Given the description of an element on the screen output the (x, y) to click on. 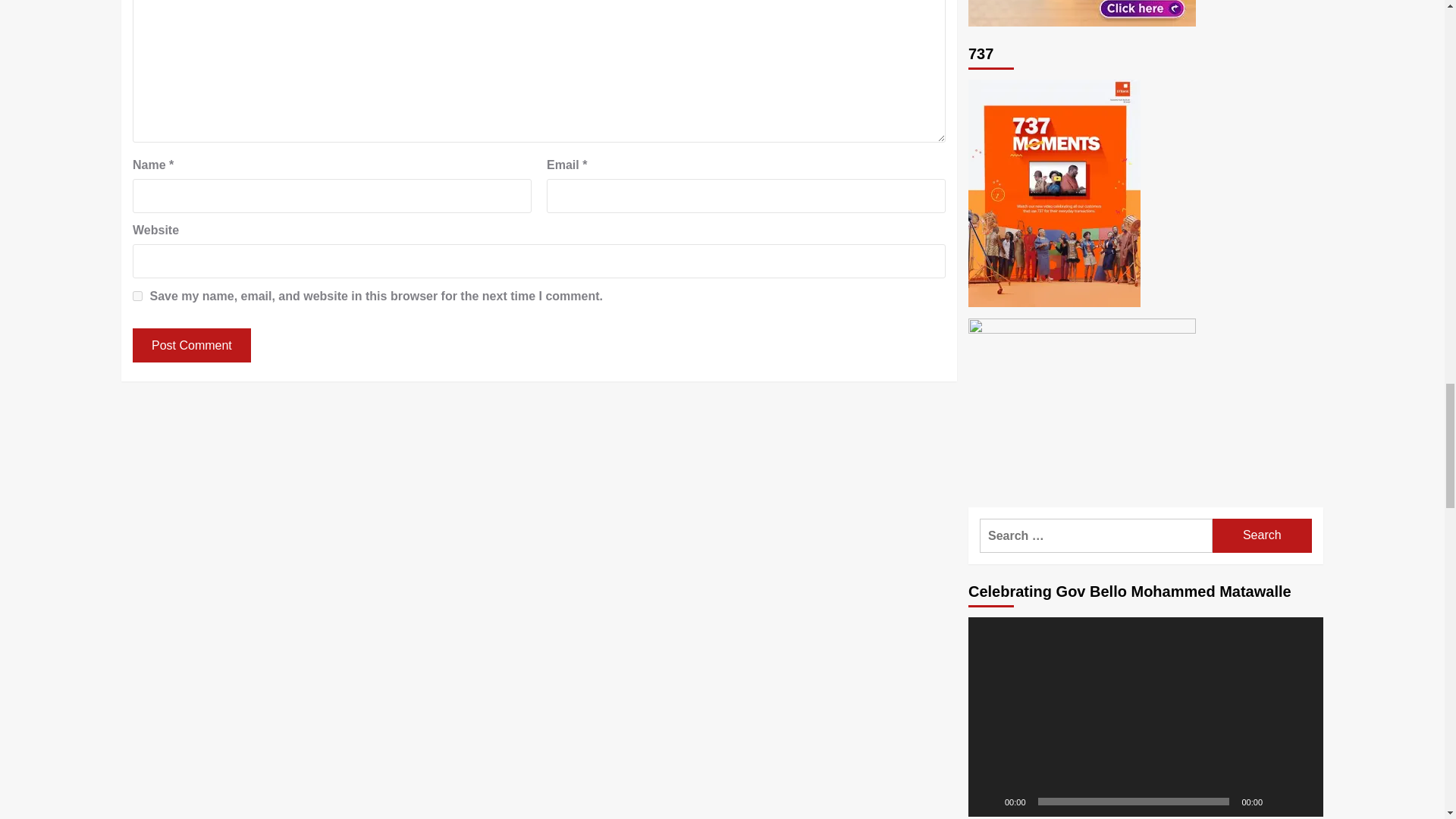
Search (1261, 535)
Post Comment (191, 345)
Search (1261, 535)
yes (137, 296)
